Given the description of an element on the screen output the (x, y) to click on. 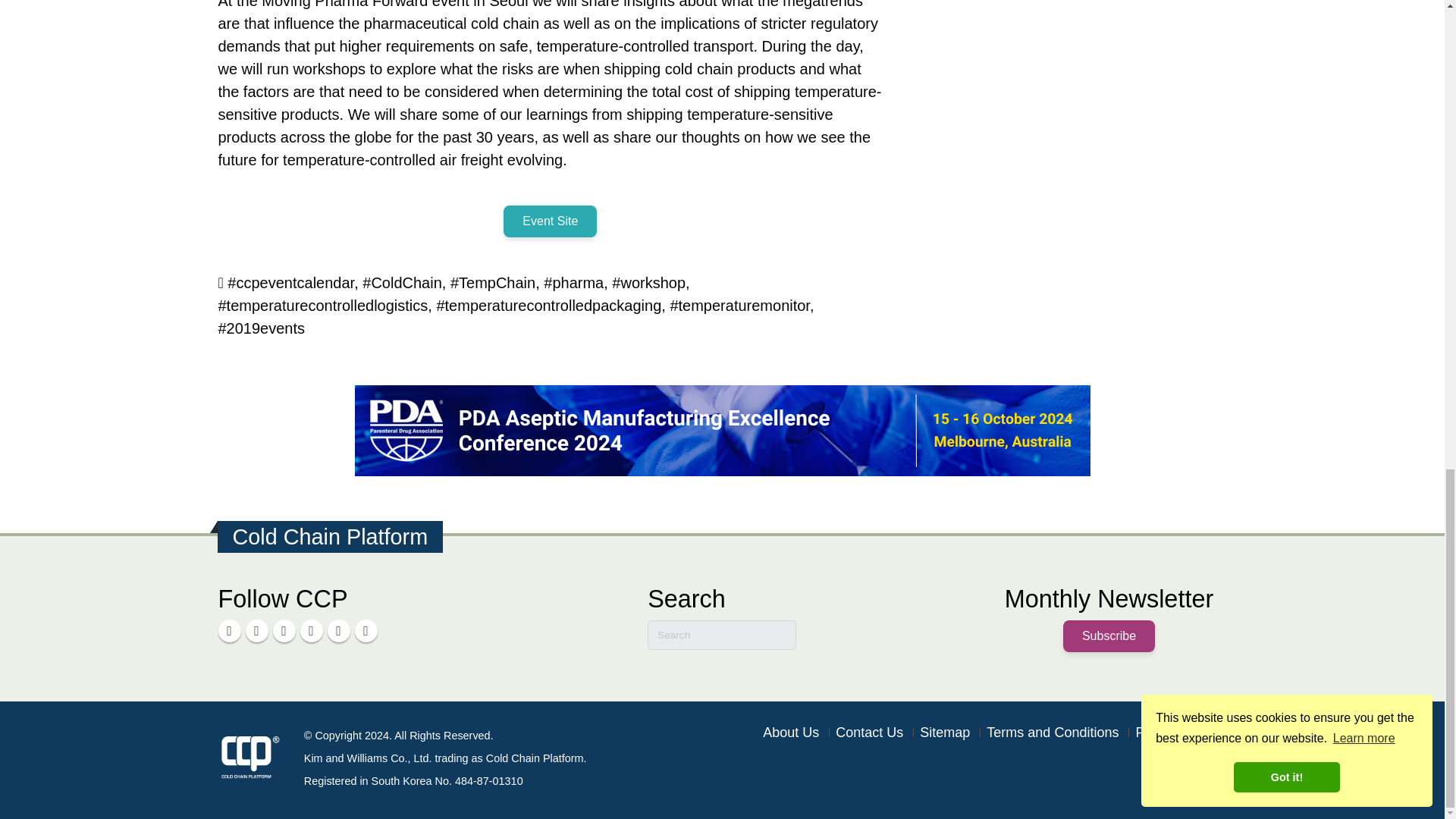
Event Site (549, 221)
YouTube (284, 630)
Linkedin (229, 630)
Facebook (256, 630)
Newsletter (366, 630)
Instagram (338, 630)
Twitter (311, 630)
